Given the description of an element on the screen output the (x, y) to click on. 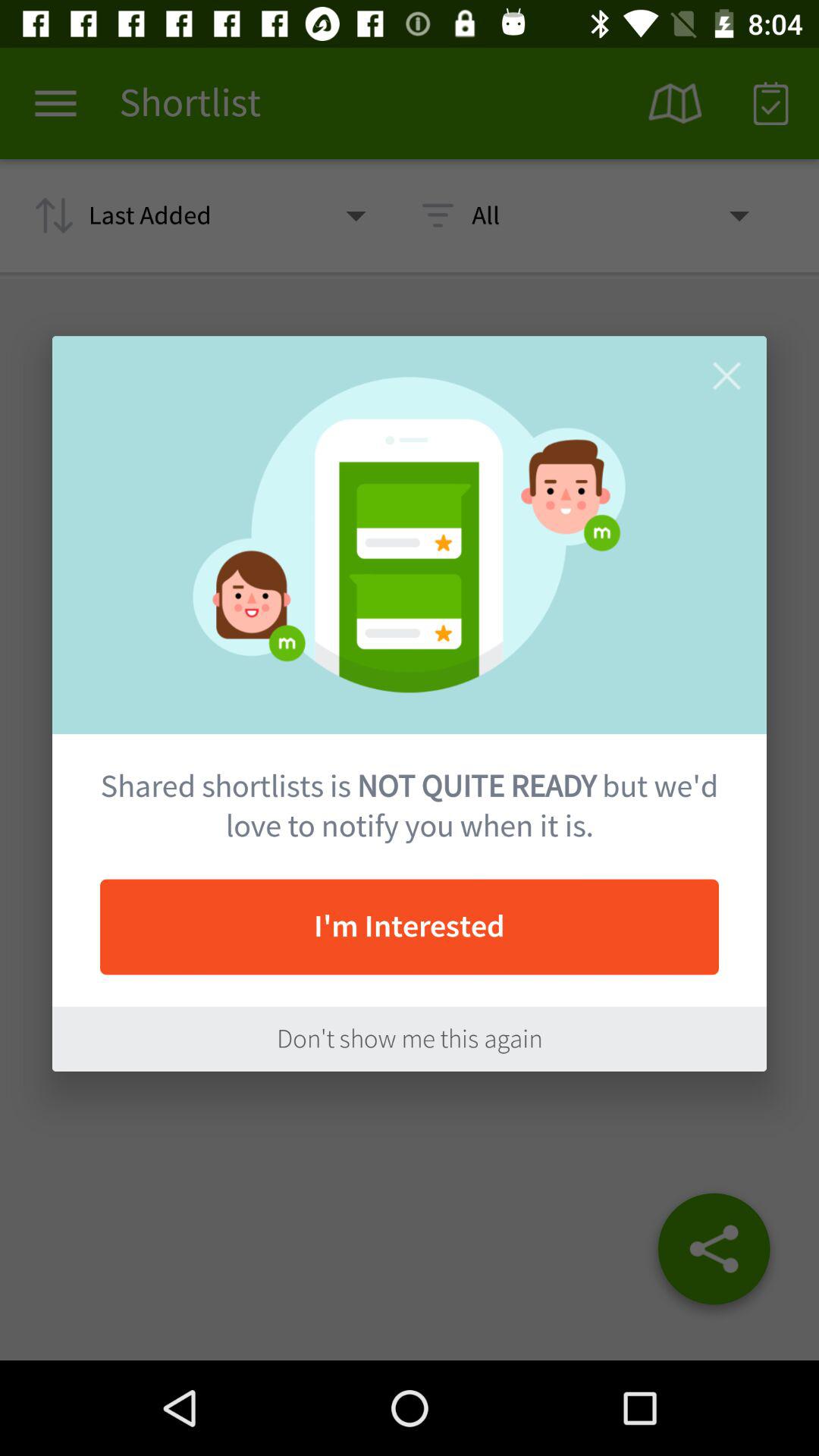
jump until the i'm interested (409, 926)
